Given the description of an element on the screen output the (x, y) to click on. 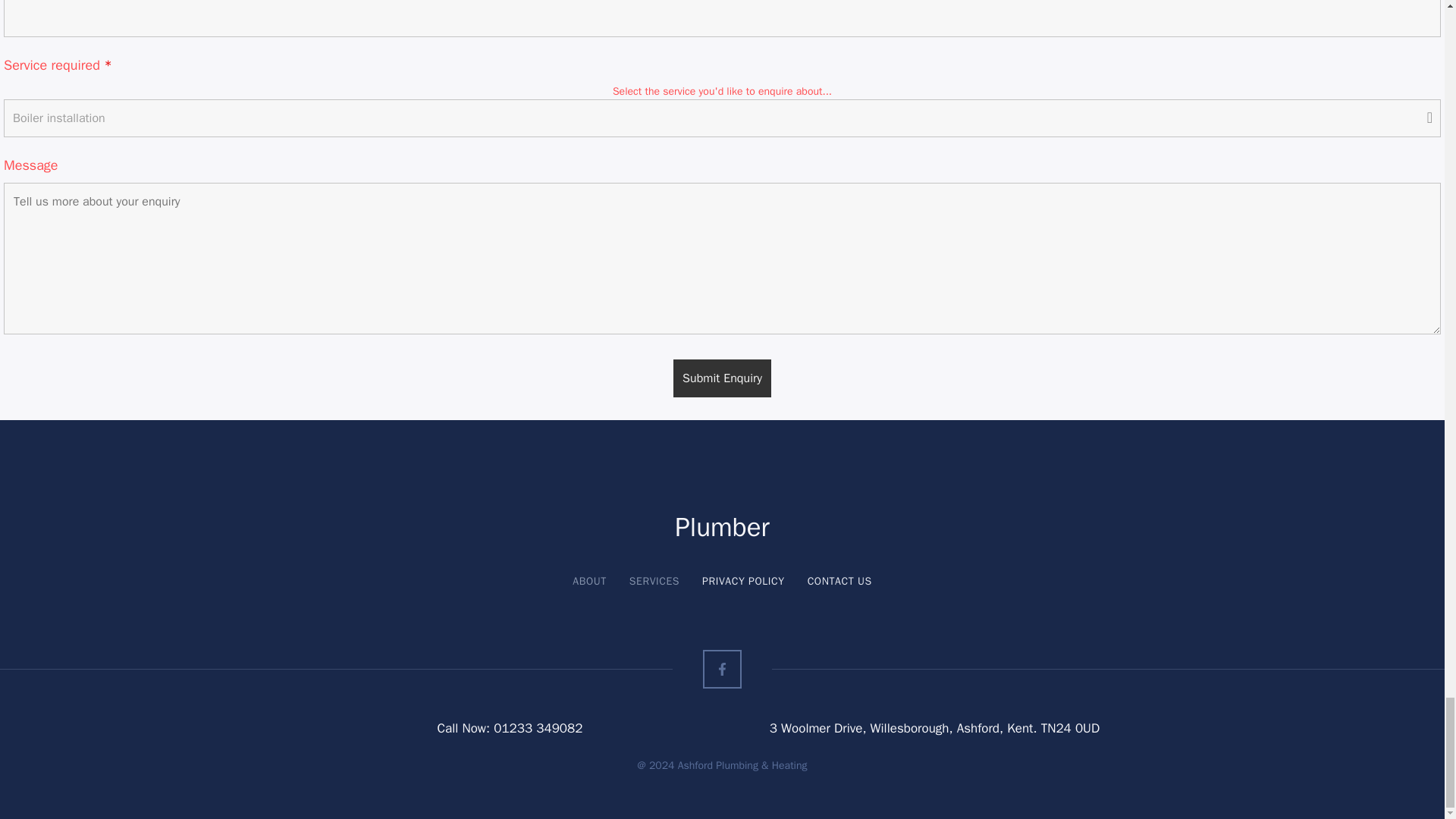
Submit Enquiry (721, 378)
